Given the description of an element on the screen output the (x, y) to click on. 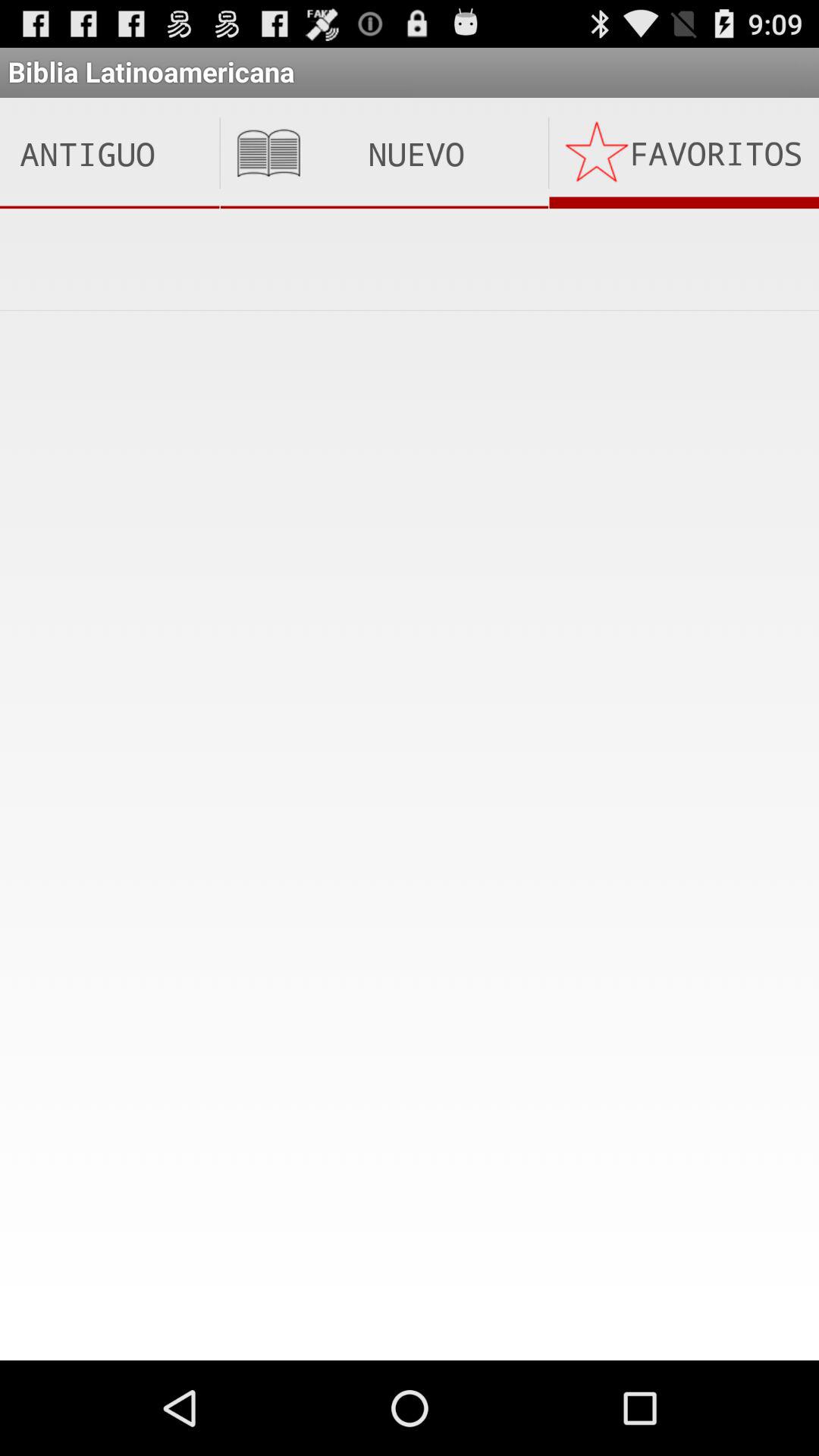
open the nuevo testamento item (384, 152)
